Given the description of an element on the screen output the (x, y) to click on. 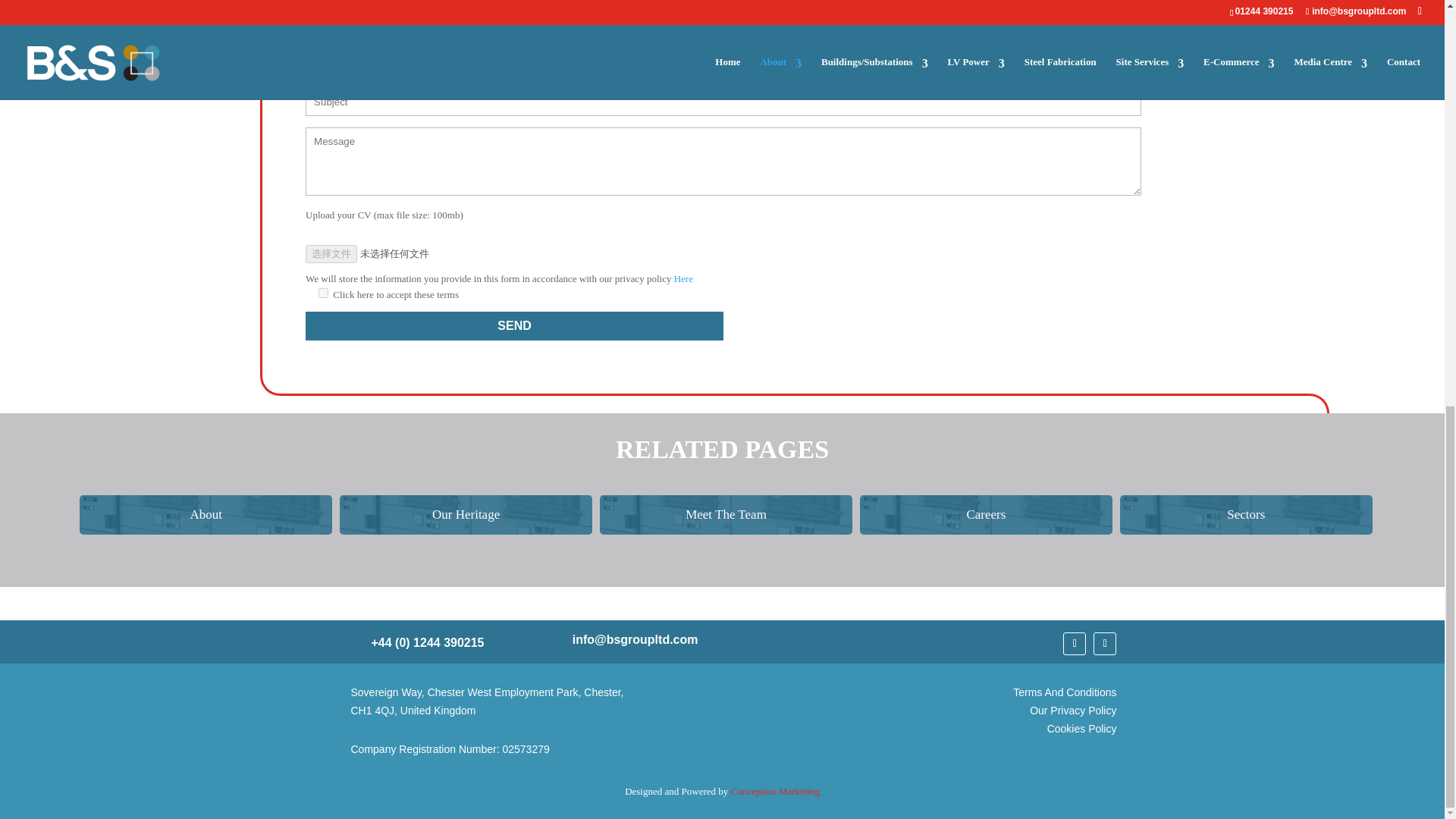
1 (323, 293)
Follow on X (1074, 643)
Follow on LinkedIn (1104, 643)
Send (514, 326)
